Given the description of an element on the screen output the (x, y) to click on. 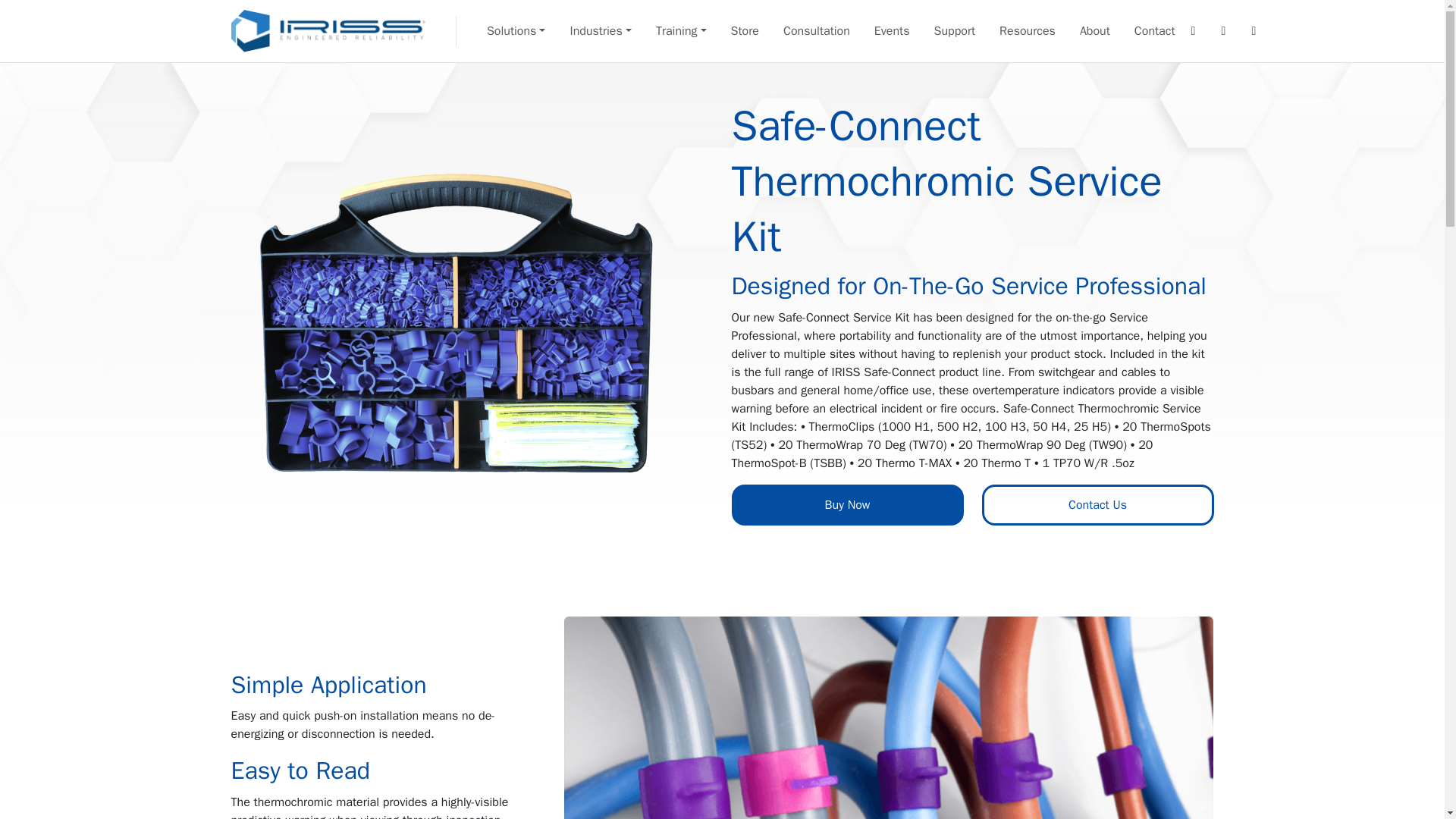
Contact (1155, 30)
Support (954, 30)
Consultation (816, 30)
Solutions (515, 30)
About (1094, 30)
Events (891, 30)
Training (681, 30)
Resources (1027, 30)
Store (745, 30)
Industries (600, 30)
